Given the description of an element on the screen output the (x, y) to click on. 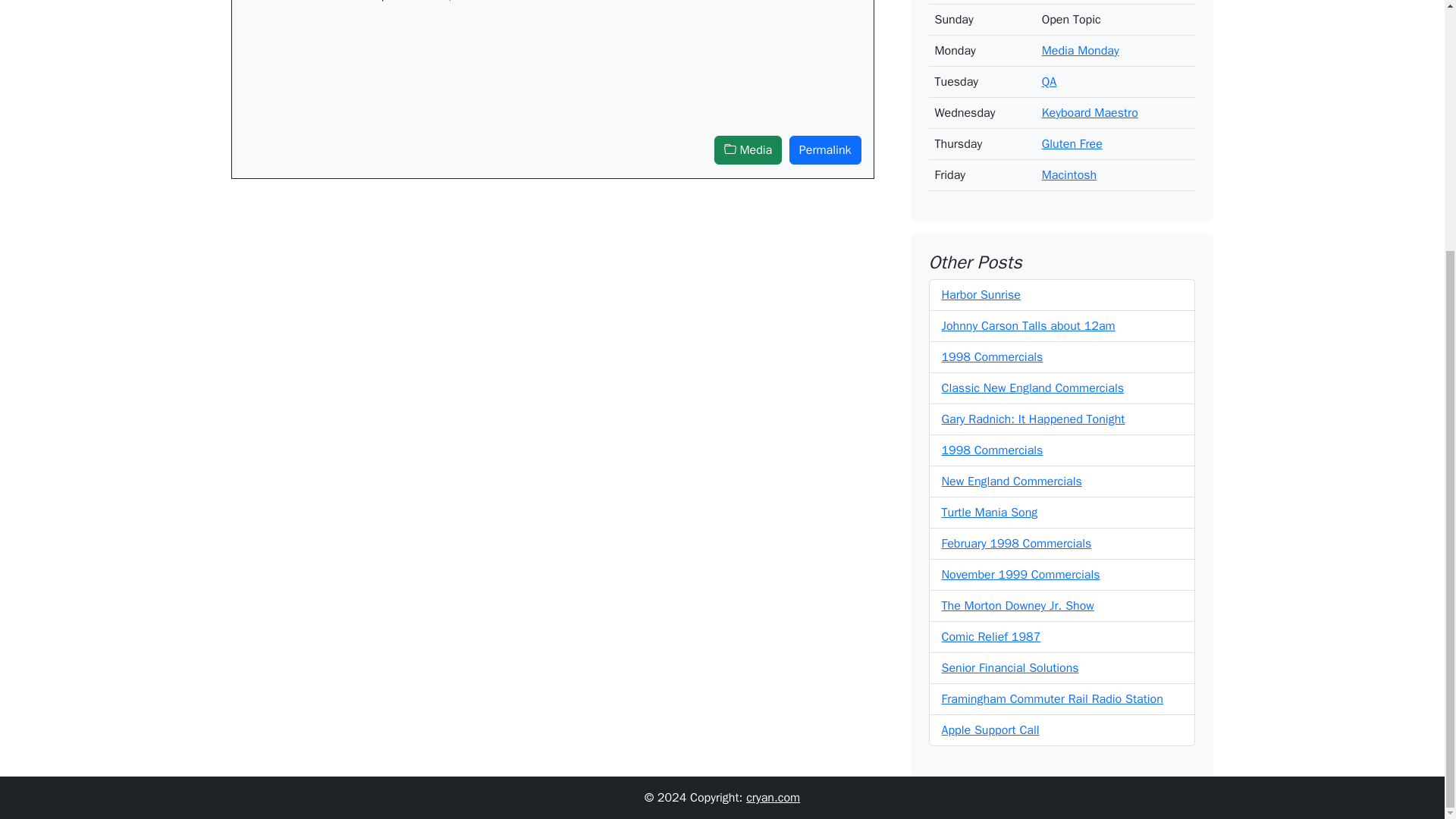
Media Monday (1080, 38)
1998 Commercials (992, 344)
Macintosh (1069, 162)
Turtle Mania Song (990, 500)
Permalink (825, 149)
Gary Radnich: It Happened Tonight (1033, 406)
QA (1049, 69)
Senior Financial Solutions (1010, 655)
Comic Relief 1987 (991, 624)
The Morton Downey Jr. Show (1018, 593)
